Given the description of an element on the screen output the (x, y) to click on. 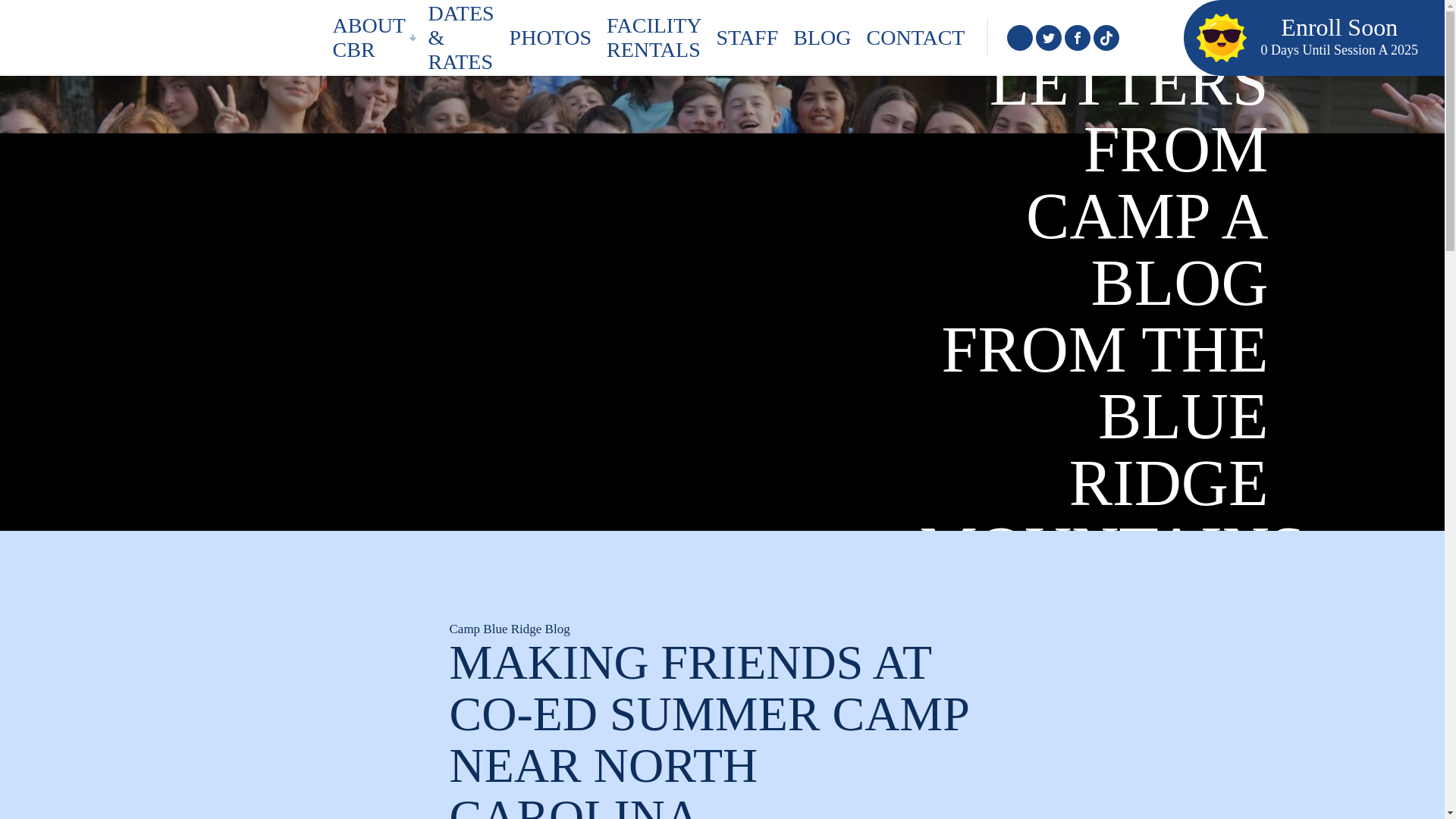
Facebook (1077, 37)
FACEBOOK (1077, 37)
INSTAGRAM (1019, 37)
TIKTOK (1106, 37)
BLOG (822, 38)
FACILITY RENTALS (372, 38)
CONTACT (652, 38)
Camp Blue Ridge (915, 38)
STAFF (77, 37)
TWITTER (746, 38)
TikTok (1048, 37)
PHOTOS (1106, 37)
Instagram (550, 38)
Twitter (1019, 37)
